Given the description of an element on the screen output the (x, y) to click on. 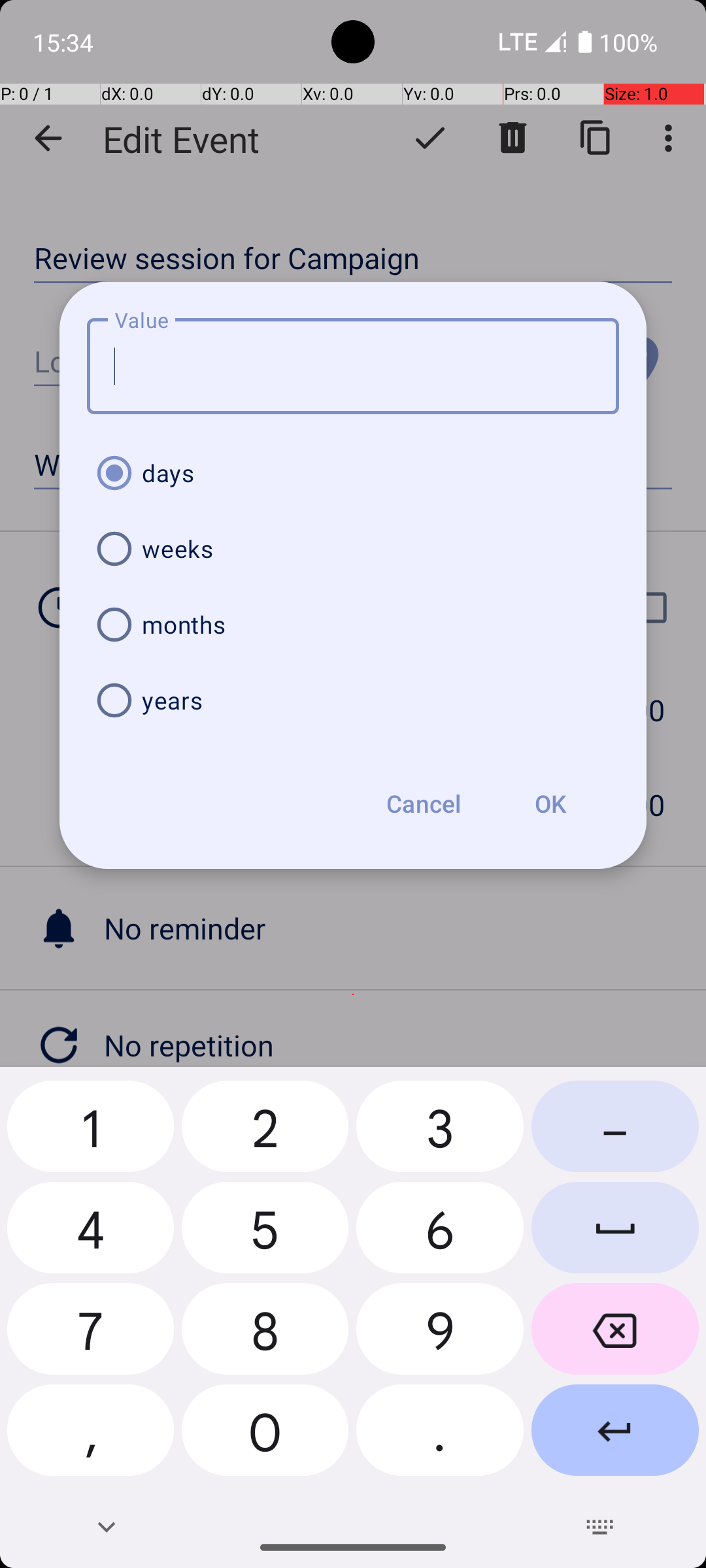
Value Element type: android.widget.EditText (352, 366)
days Element type: android.widget.RadioButton (352, 472)
weeks Element type: android.widget.RadioButton (352, 548)
months Element type: android.widget.RadioButton (352, 624)
years Element type: android.widget.RadioButton (352, 700)
